Given the description of an element on the screen output the (x, y) to click on. 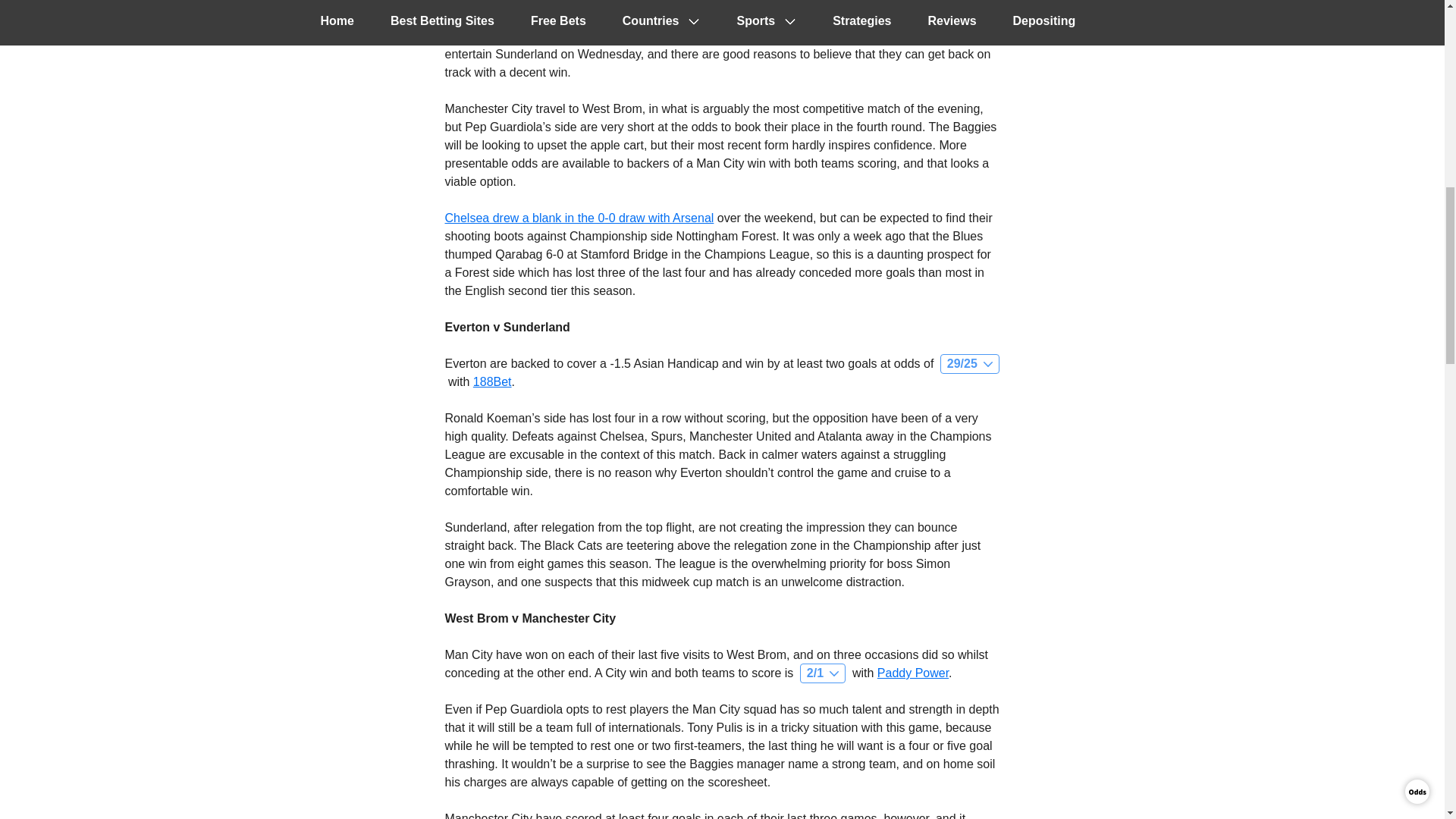
188Bet (492, 381)
Chelsea drew a blank in the 0-0 draw with Arsenal (578, 217)
Paddy Power (913, 672)
